Given the description of an element on the screen output the (x, y) to click on. 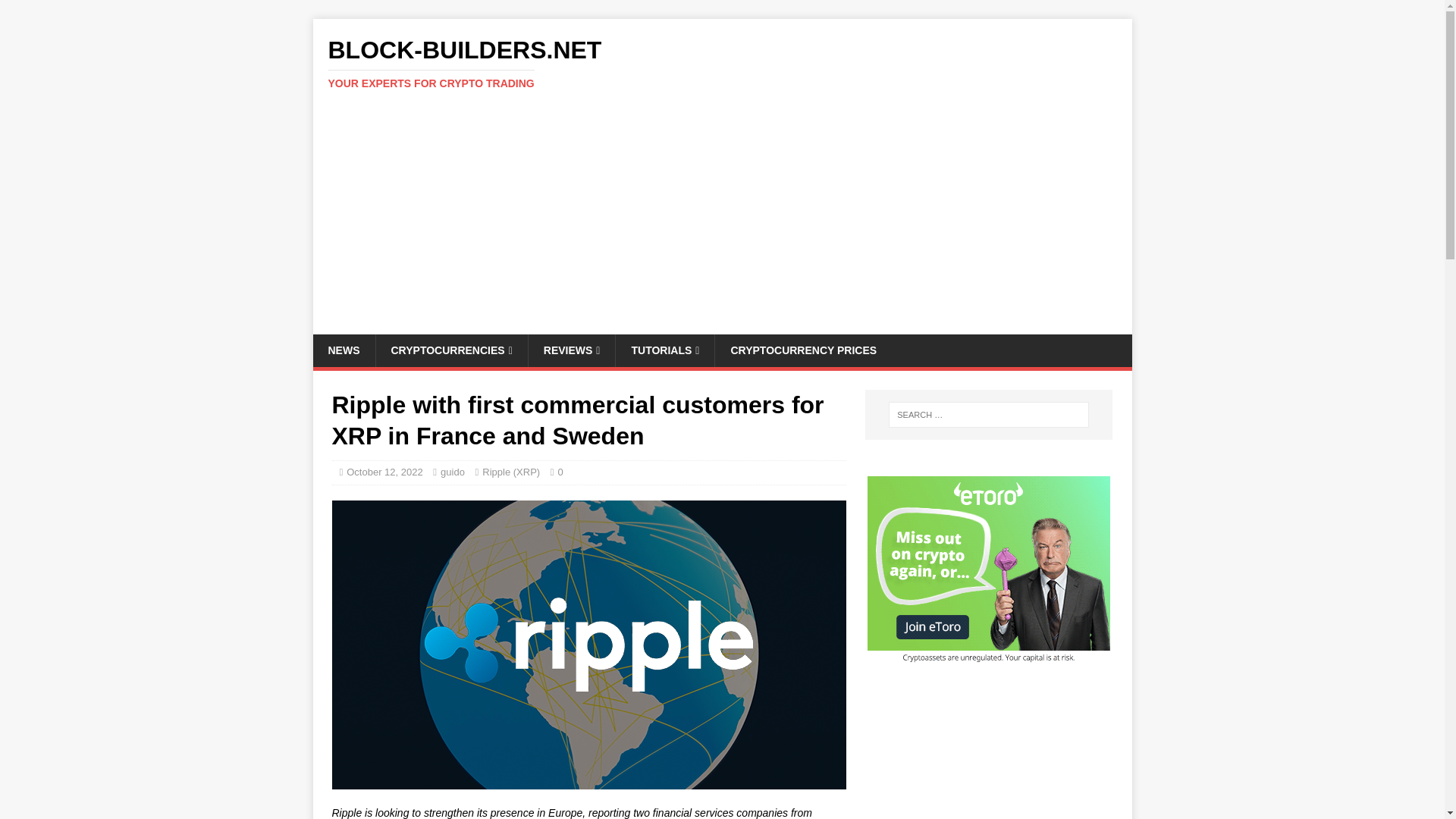
REVIEWS (571, 350)
CRYPTOCURRENCIES (450, 350)
NEWS (343, 350)
TUTORIALS (664, 350)
Block-builders.net (721, 63)
